Given the description of an element on the screen output the (x, y) to click on. 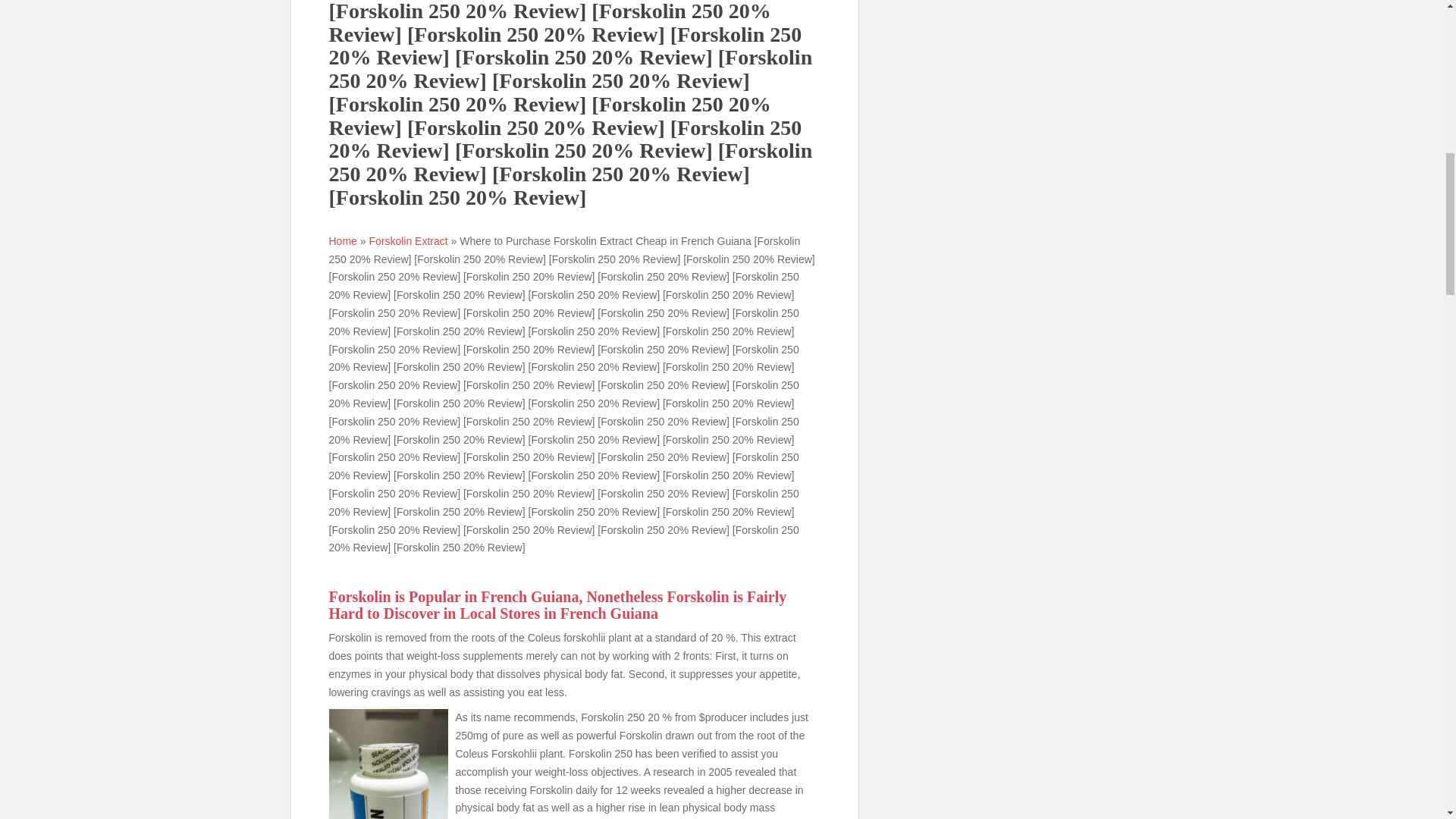
Where to Buy Forskolin in French Guiana (388, 764)
Home (342, 241)
Forskolin Extract (407, 241)
Buy Forskolin Extract Online  (407, 241)
